Given the description of an element on the screen output the (x, y) to click on. 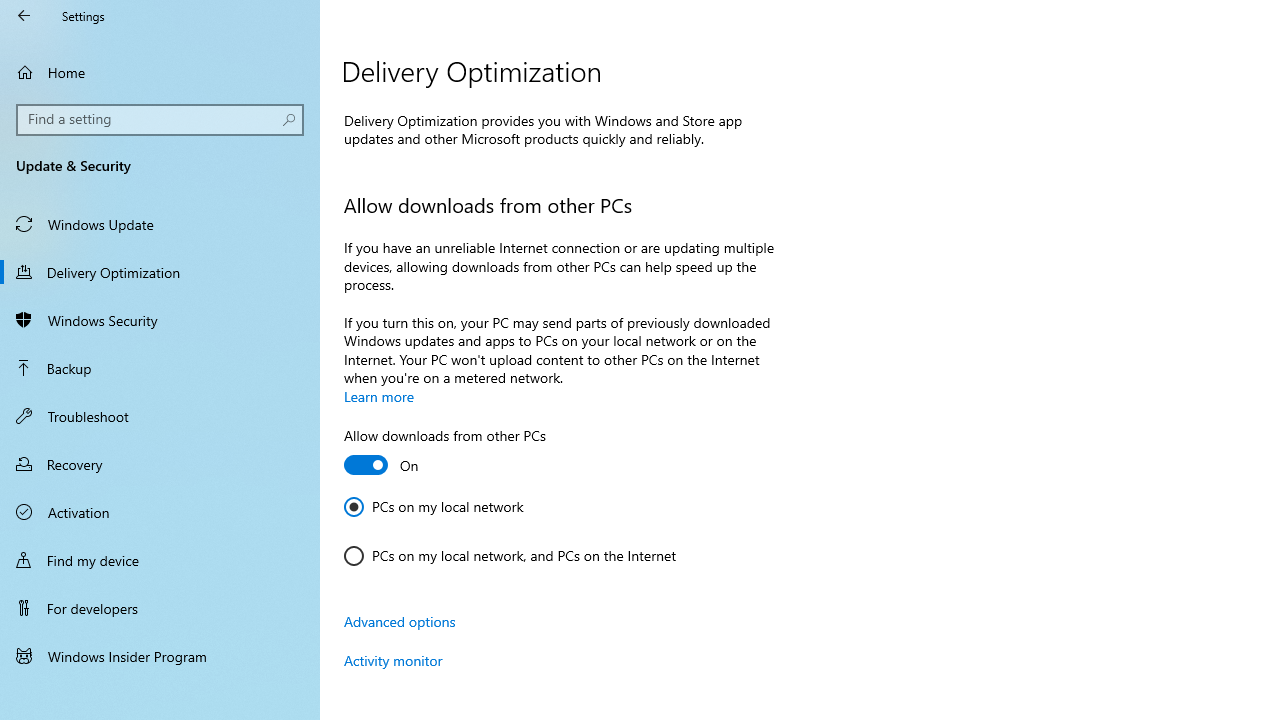
Allow downloads from other PCs (445, 453)
For developers (160, 607)
Troubleshoot (160, 415)
PCs on my local network (433, 506)
